Given the description of an element on the screen output the (x, y) to click on. 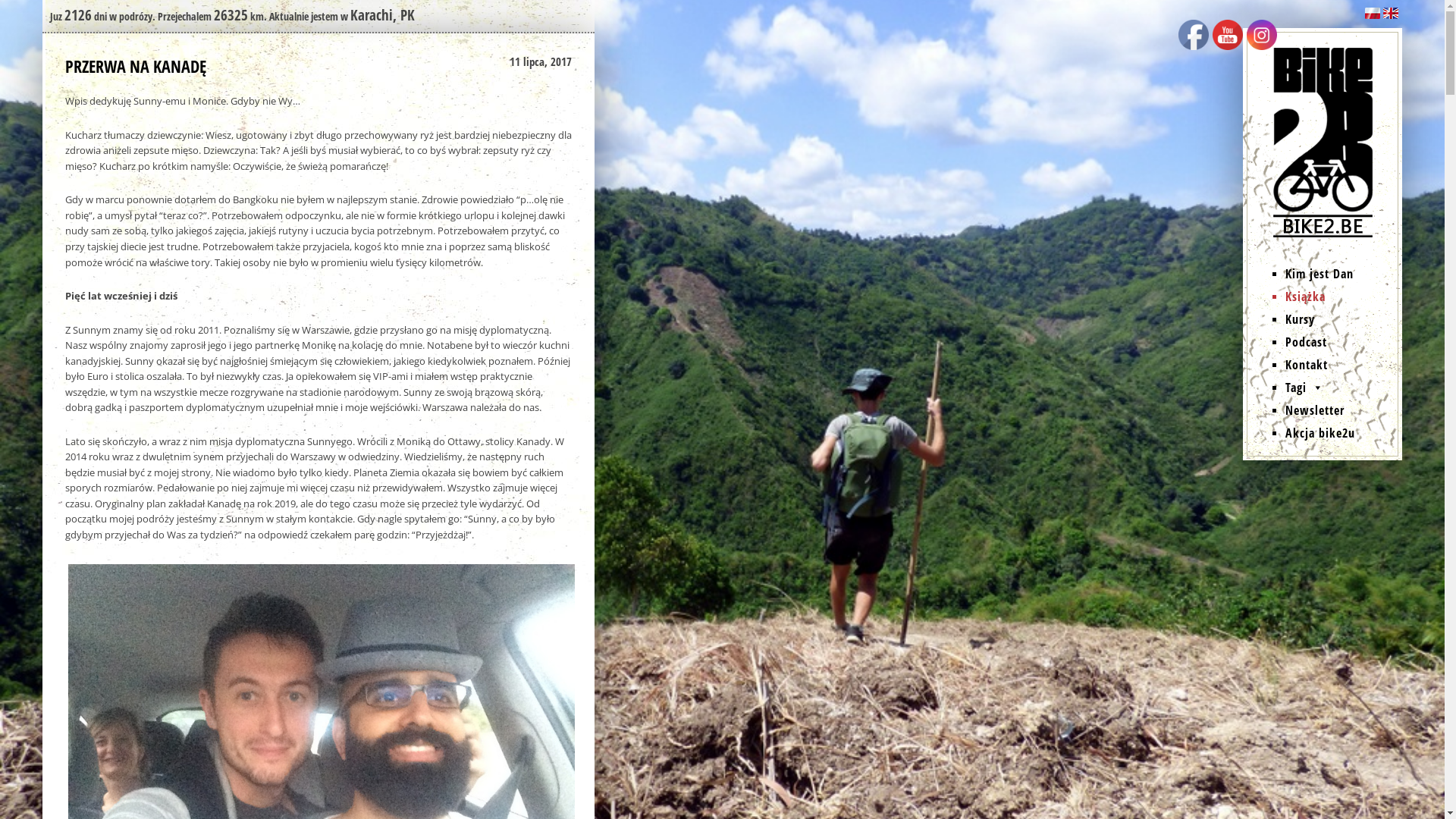
Kursy Element type: text (1341, 319)
Facebook Element type: hover (1193, 34)
YouTube Element type: hover (1227, 34)
Kontakt Element type: text (1341, 364)
Instagram Element type: hover (1261, 34)
Akcja bike2u Element type: text (1341, 432)
Kim jest Dan Element type: text (1341, 273)
Newsletter Element type: text (1341, 410)
Podcast Element type: text (1341, 341)
Tagi Element type: text (1341, 387)
